Given the description of an element on the screen output the (x, y) to click on. 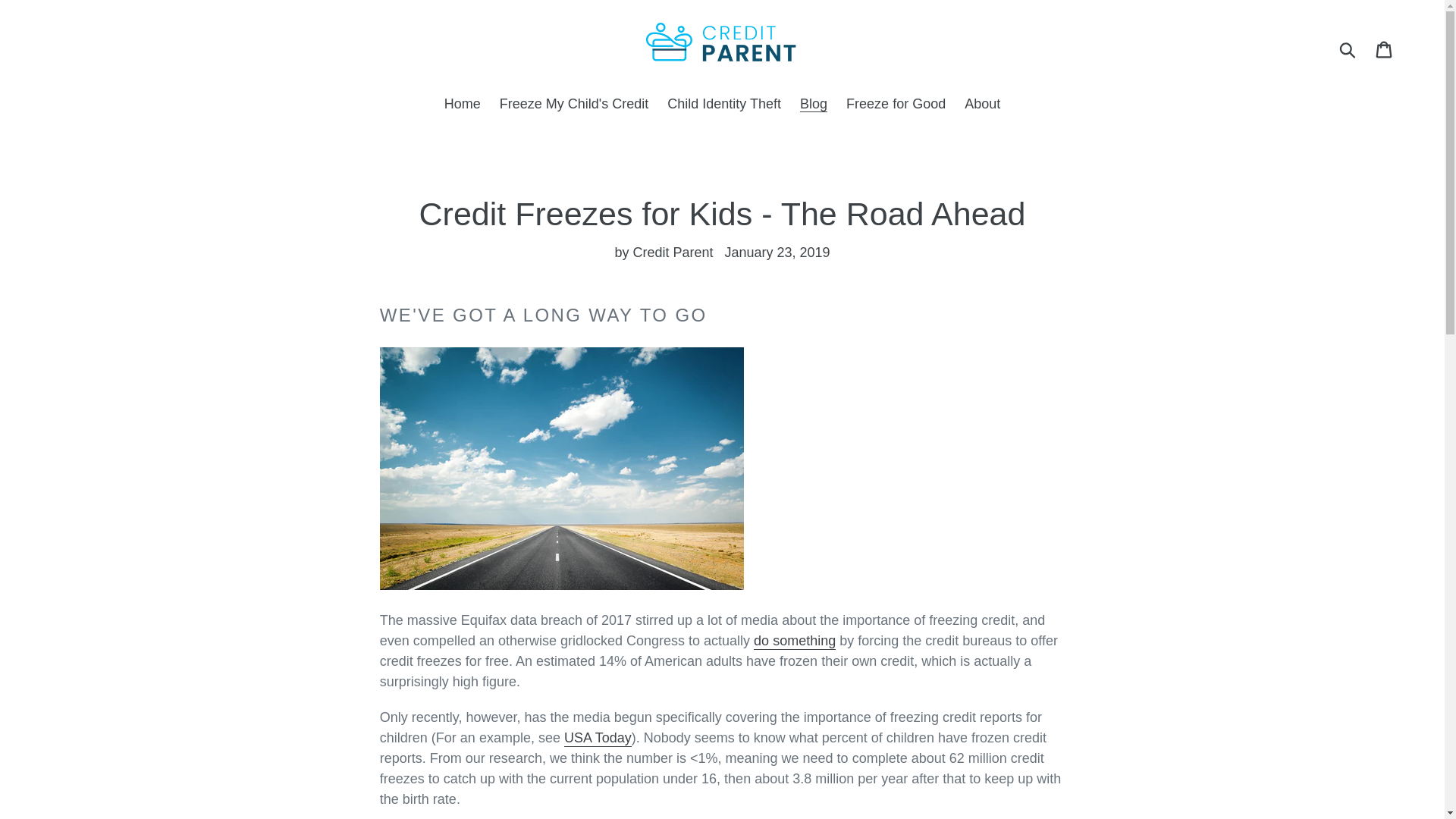
Freeze My Child's Credit (574, 105)
USA Today (597, 738)
Blog (813, 105)
Freeze for Good (895, 105)
do something (794, 641)
Submit (1348, 48)
About (981, 105)
Cart (1385, 48)
Child Identity Theft (724, 105)
Home (461, 105)
